Given the description of an element on the screen output the (x, y) to click on. 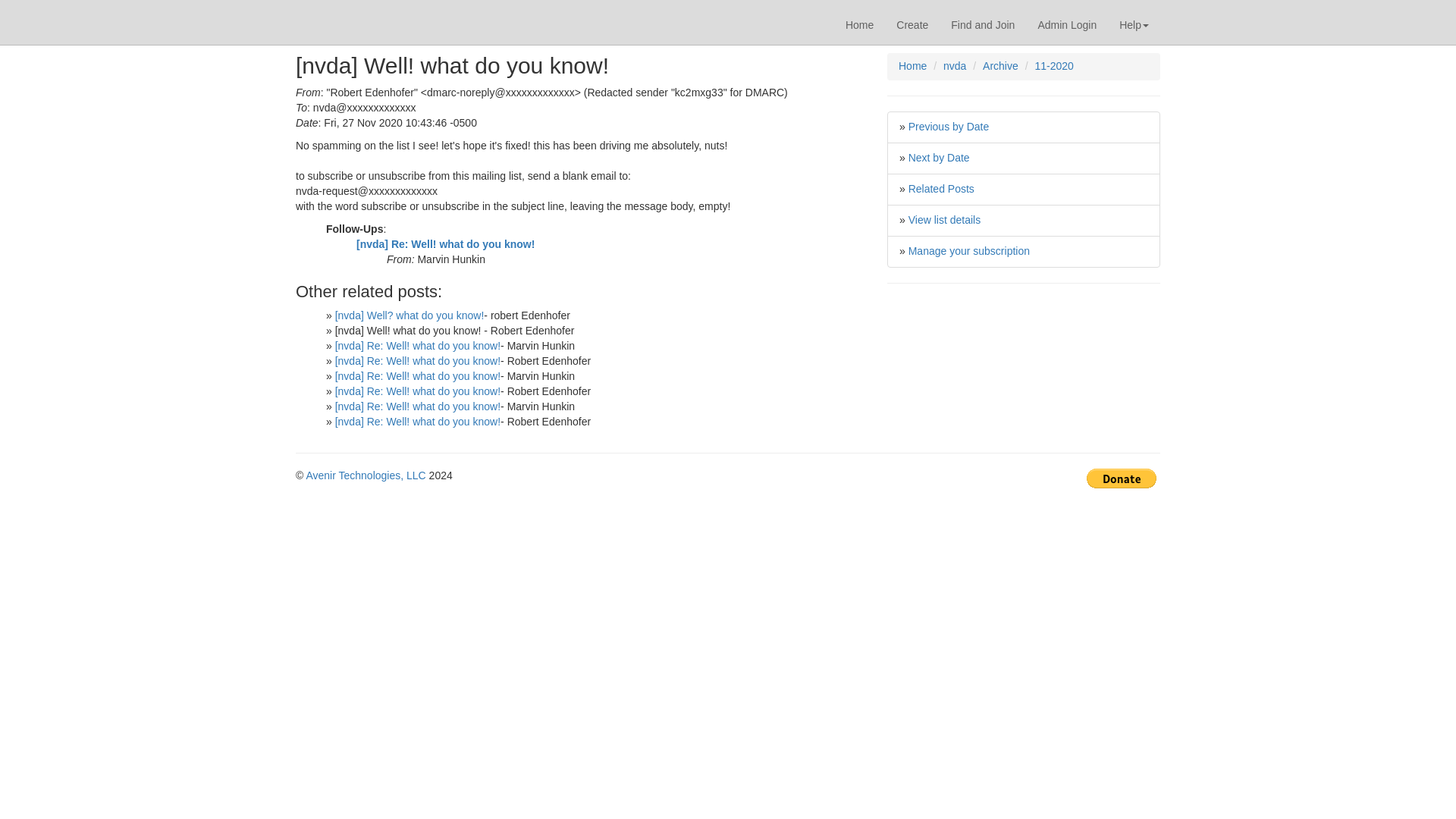
nvda (954, 65)
Admin Login (1067, 24)
Archive (999, 65)
Create (912, 24)
Manage your subscription (968, 250)
View list details (943, 219)
Find and Join (982, 24)
Avenir Technologies, LLC (365, 475)
11-2020 (1053, 65)
PayPal - The safer, easier way to pay online! (1121, 478)
